Given the description of an element on the screen output the (x, y) to click on. 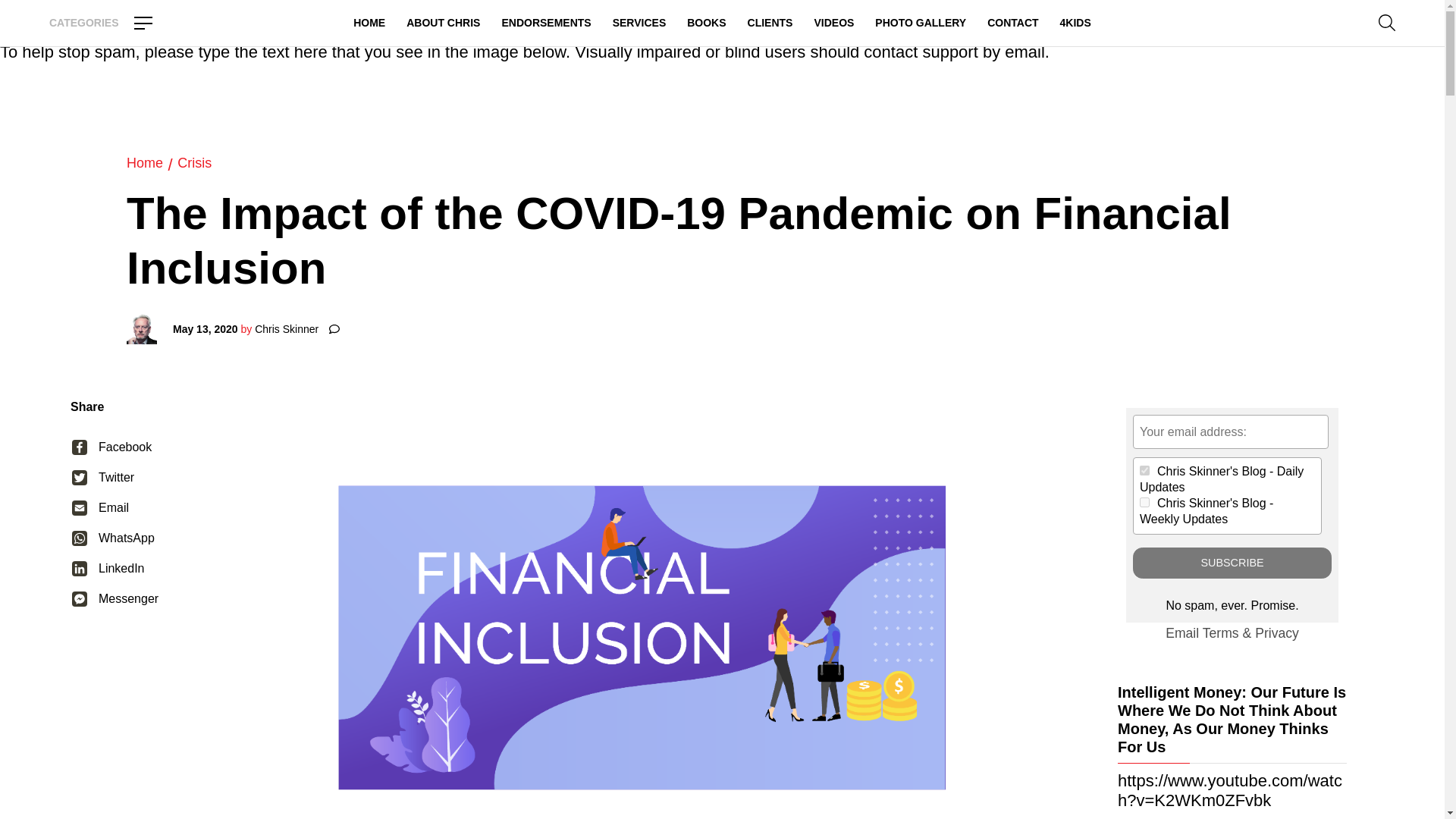
CLIENTS (770, 22)
Subscribe to: (1145, 470)
Email subscriptions privacy policy (1276, 632)
SERVICES (639, 22)
Subscribe to: (1145, 501)
ENDORSEMENTS (545, 22)
1122370 (1145, 501)
CONTACT (1012, 22)
PHOTO GALLERY (920, 22)
ABOUT CHRIS (443, 22)
SUBSCRIBE (1232, 562)
Your email address: (1229, 431)
Email subscriptions terms of service (1220, 632)
SUBSCRIBE (1232, 562)
CATEGORIES (100, 22)
